Given the description of an element on the screen output the (x, y) to click on. 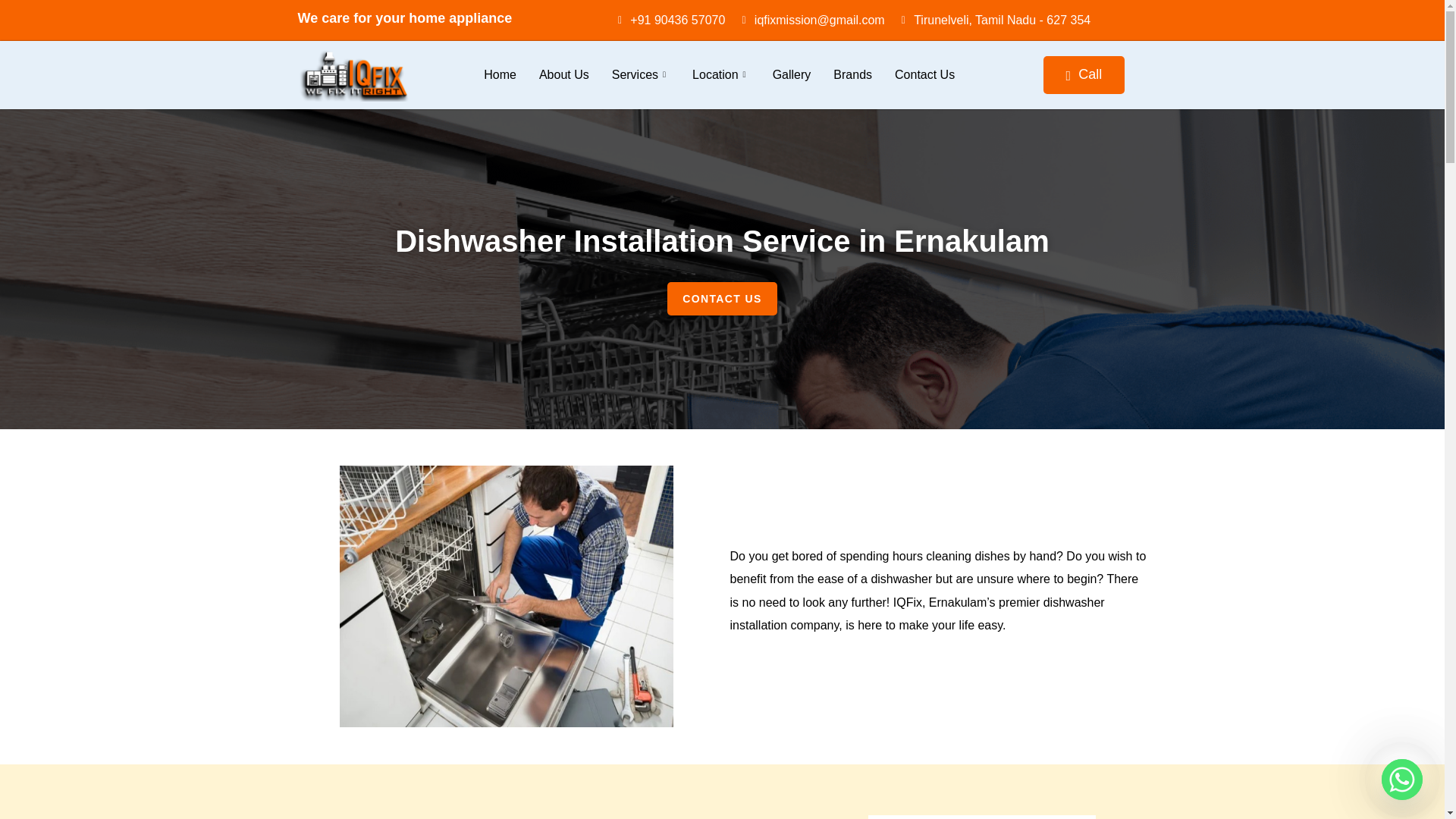
Call (1084, 74)
Gallery (791, 75)
Contact Us (924, 75)
Brands (852, 75)
CONTACT US (721, 298)
Services (640, 75)
Location (721, 75)
About Us (563, 75)
Home (499, 75)
